Given the description of an element on the screen output the (x, y) to click on. 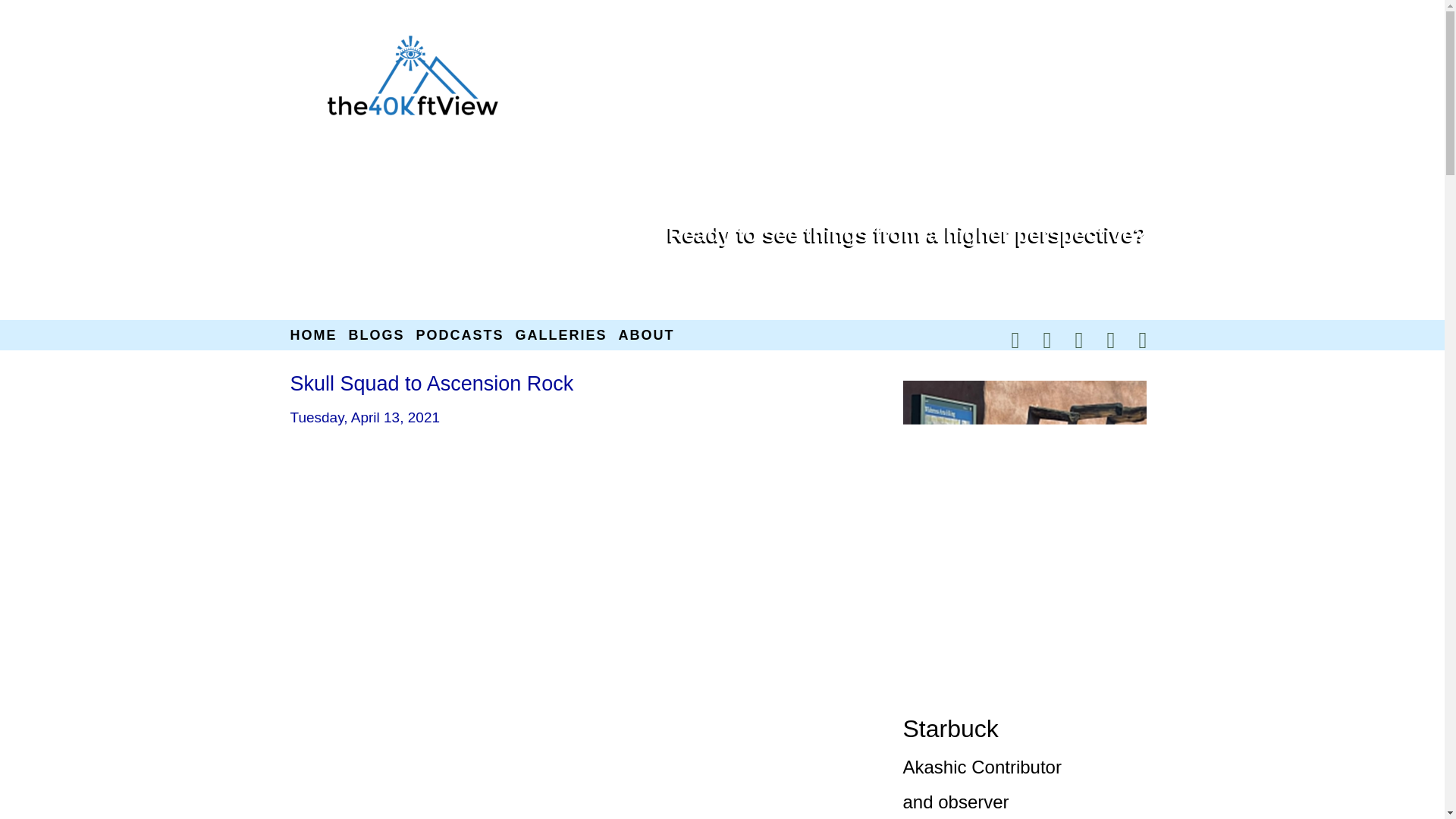
HOME (312, 335)
PODCASTS (459, 335)
BLOGS (376, 335)
GALLERIES (561, 335)
